Given the description of an element on the screen output the (x, y) to click on. 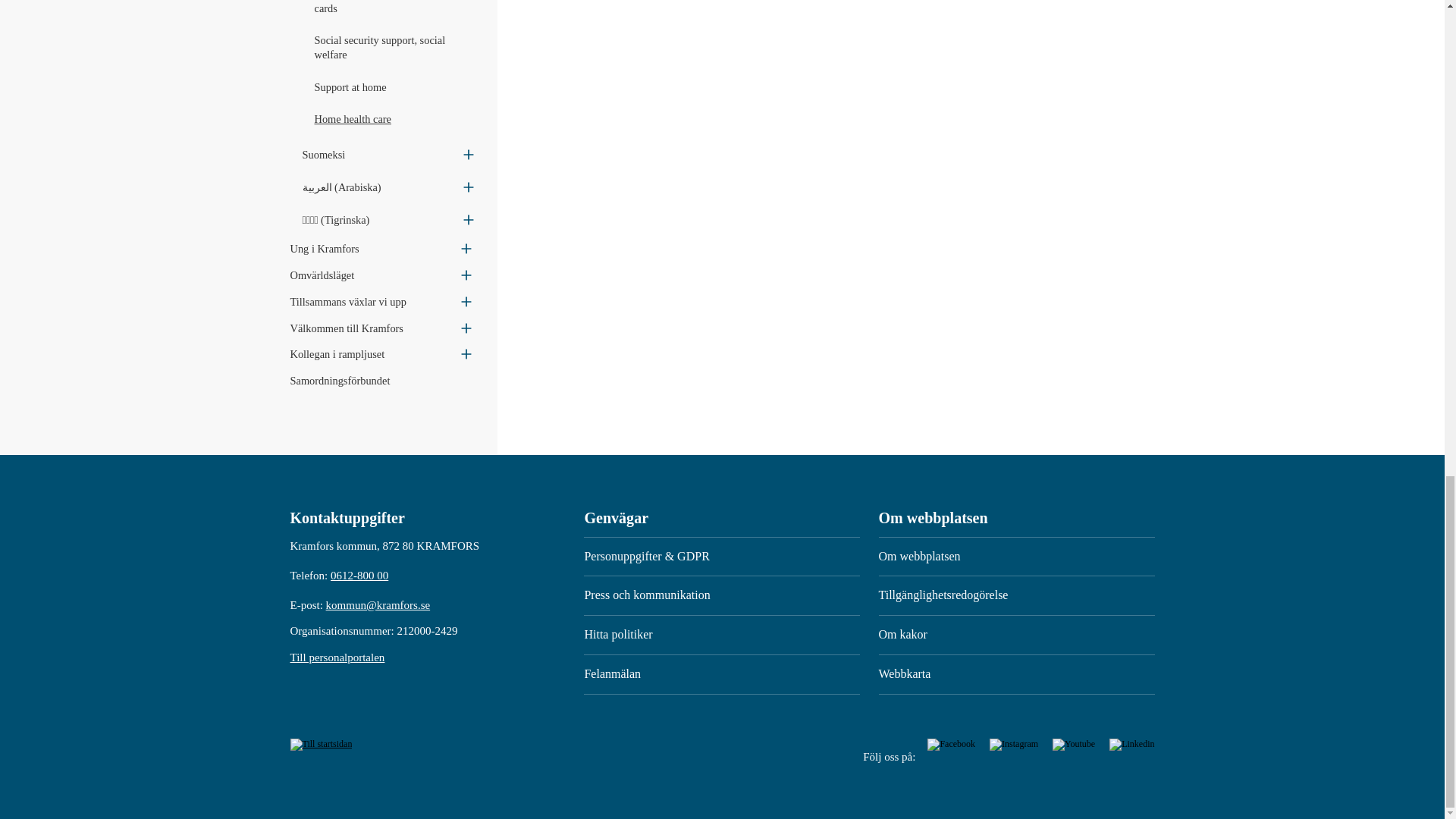
Instagram (1015, 743)
Youtube (1074, 743)
Facebook (951, 743)
Till startsidan (320, 743)
Linkedin (1131, 743)
